Given the description of an element on the screen output the (x, y) to click on. 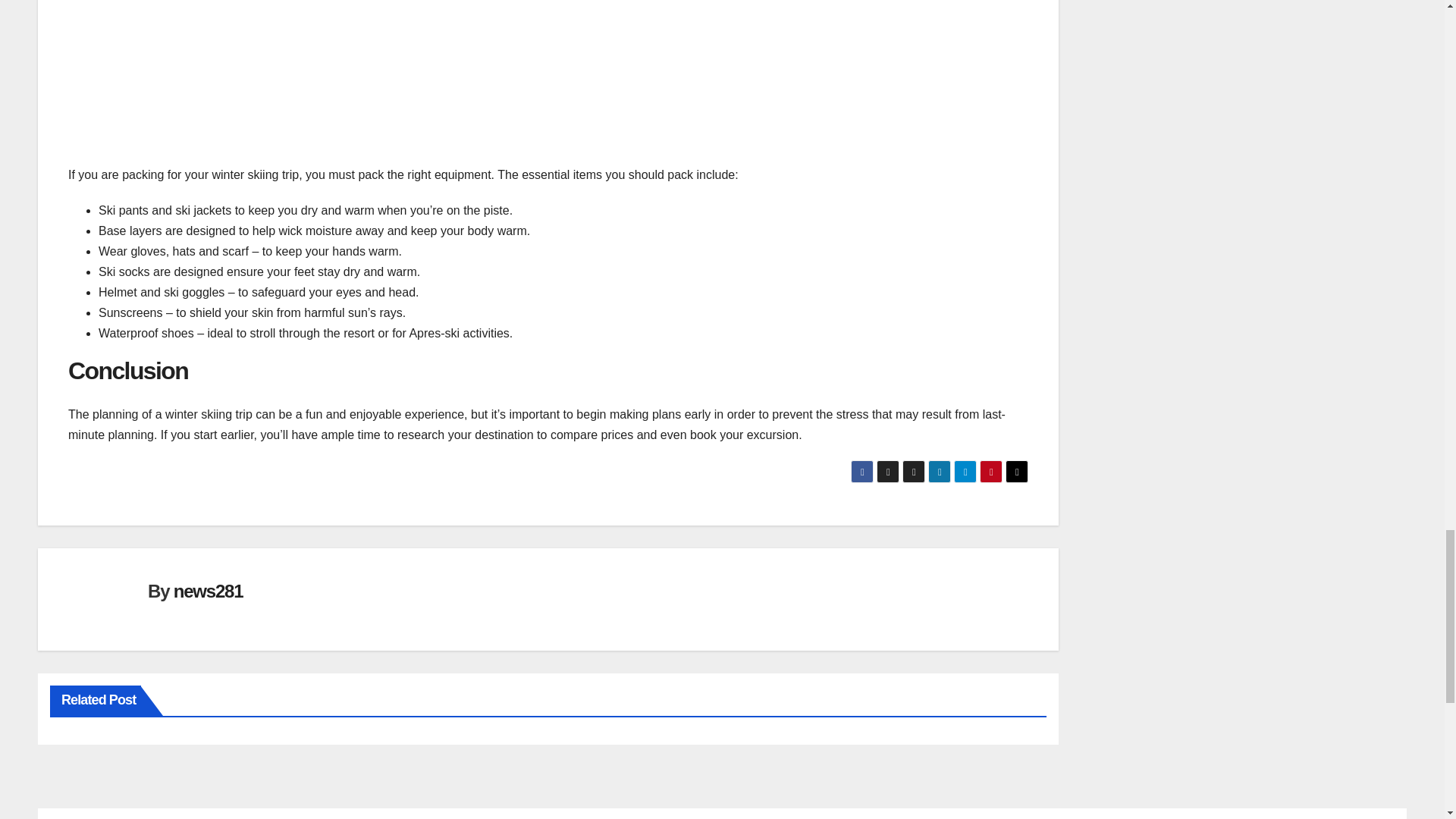
news281 (208, 590)
